Given the description of an element on the screen output the (x, y) to click on. 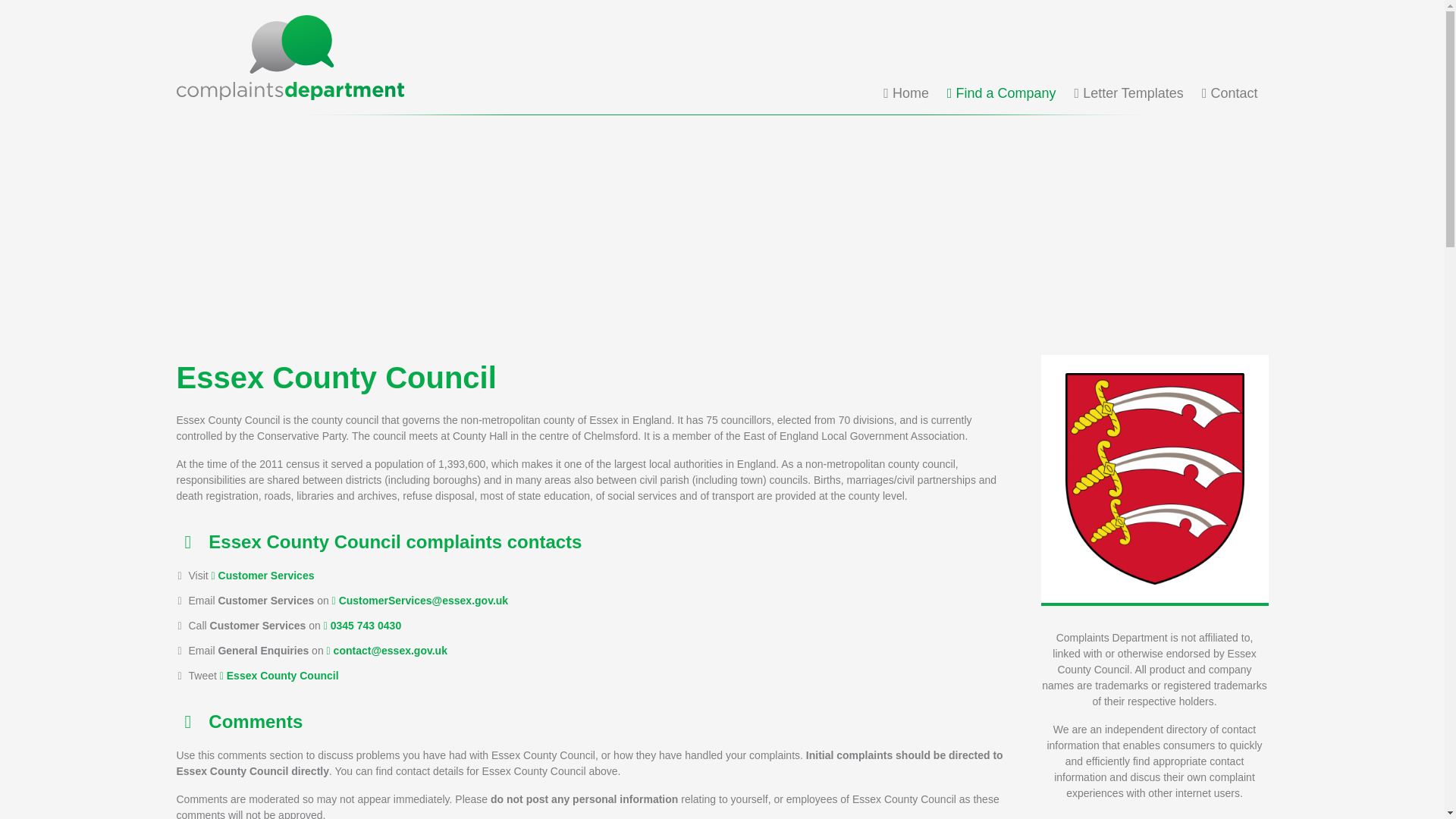
Essex County Council (279, 675)
Customer Services (262, 575)
Find a Company (1002, 92)
Contact (1229, 92)
Home (905, 92)
0345 743 0430 (362, 625)
Letter Templates (1128, 92)
